Given the description of an element on the screen output the (x, y) to click on. 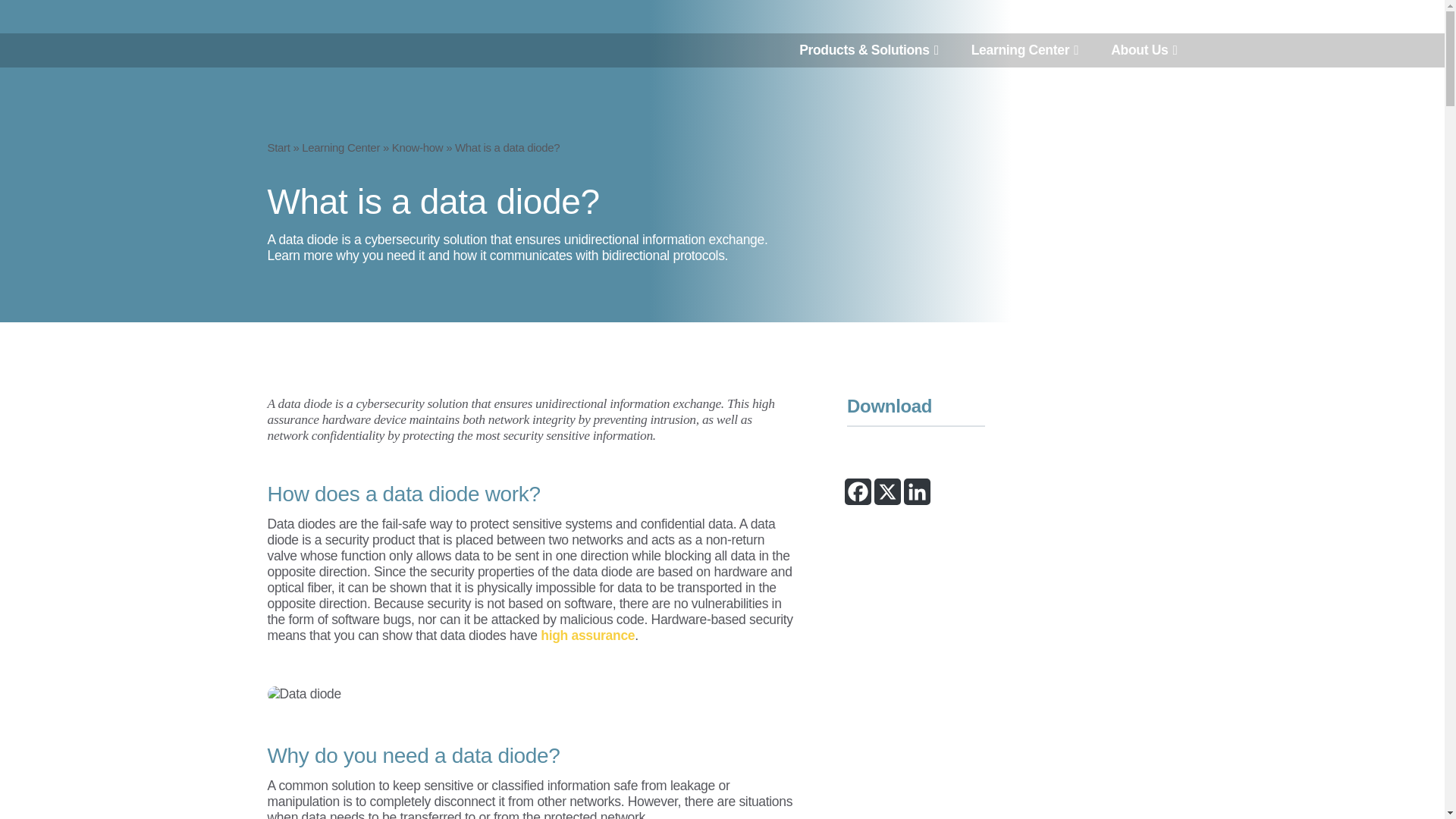
Linkedin (917, 491)
X (888, 491)
Start search (686, 423)
Learning Center (1024, 50)
About Us (1143, 50)
Facebook (857, 491)
